Given the description of an element on the screen output the (x, y) to click on. 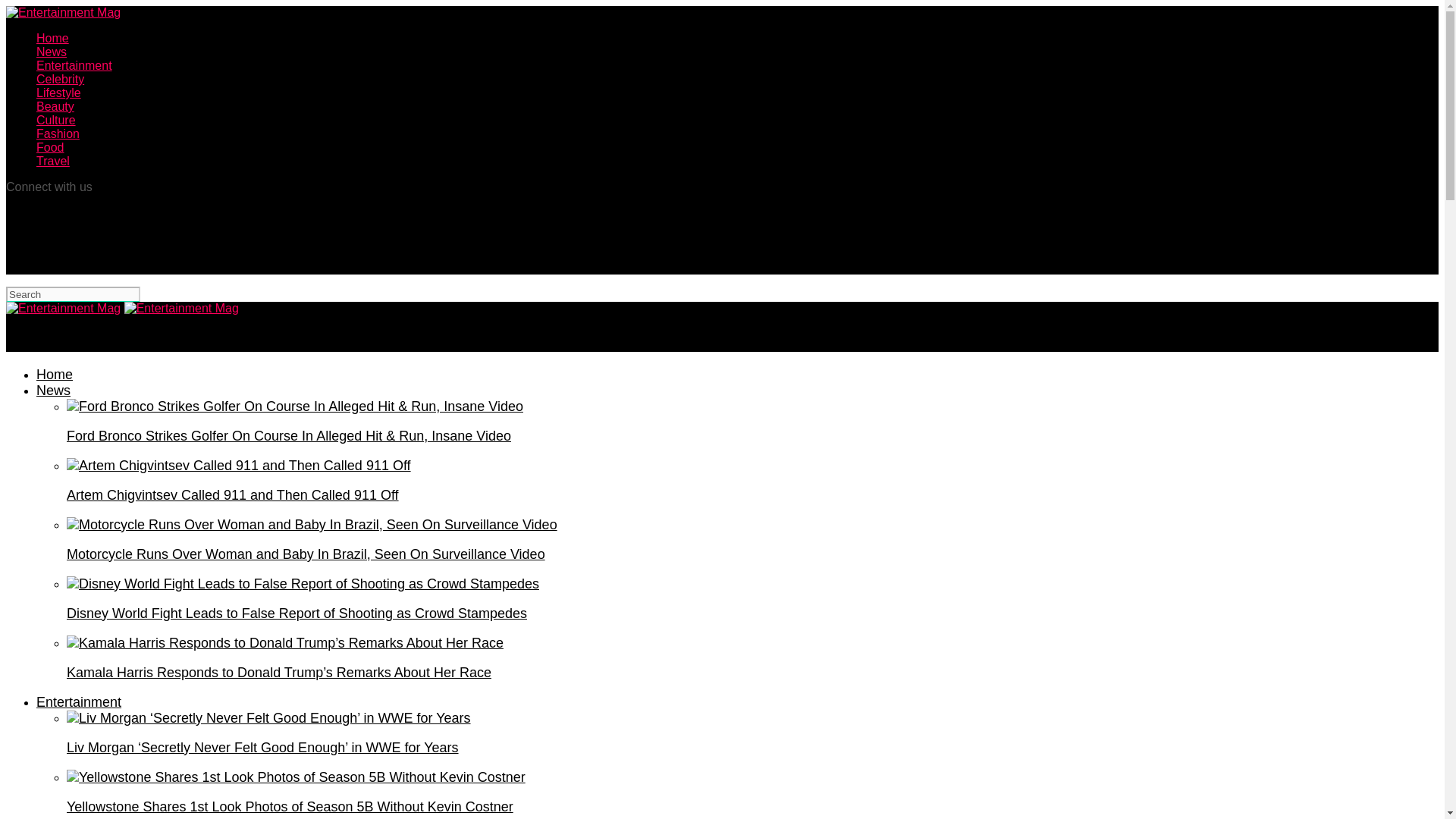
Home (54, 374)
Food (50, 146)
Entertainment (78, 702)
Fashion (58, 133)
Search (72, 294)
Travel (52, 160)
Entertainment (74, 65)
Lifestyle (58, 92)
